Given the description of an element on the screen output the (x, y) to click on. 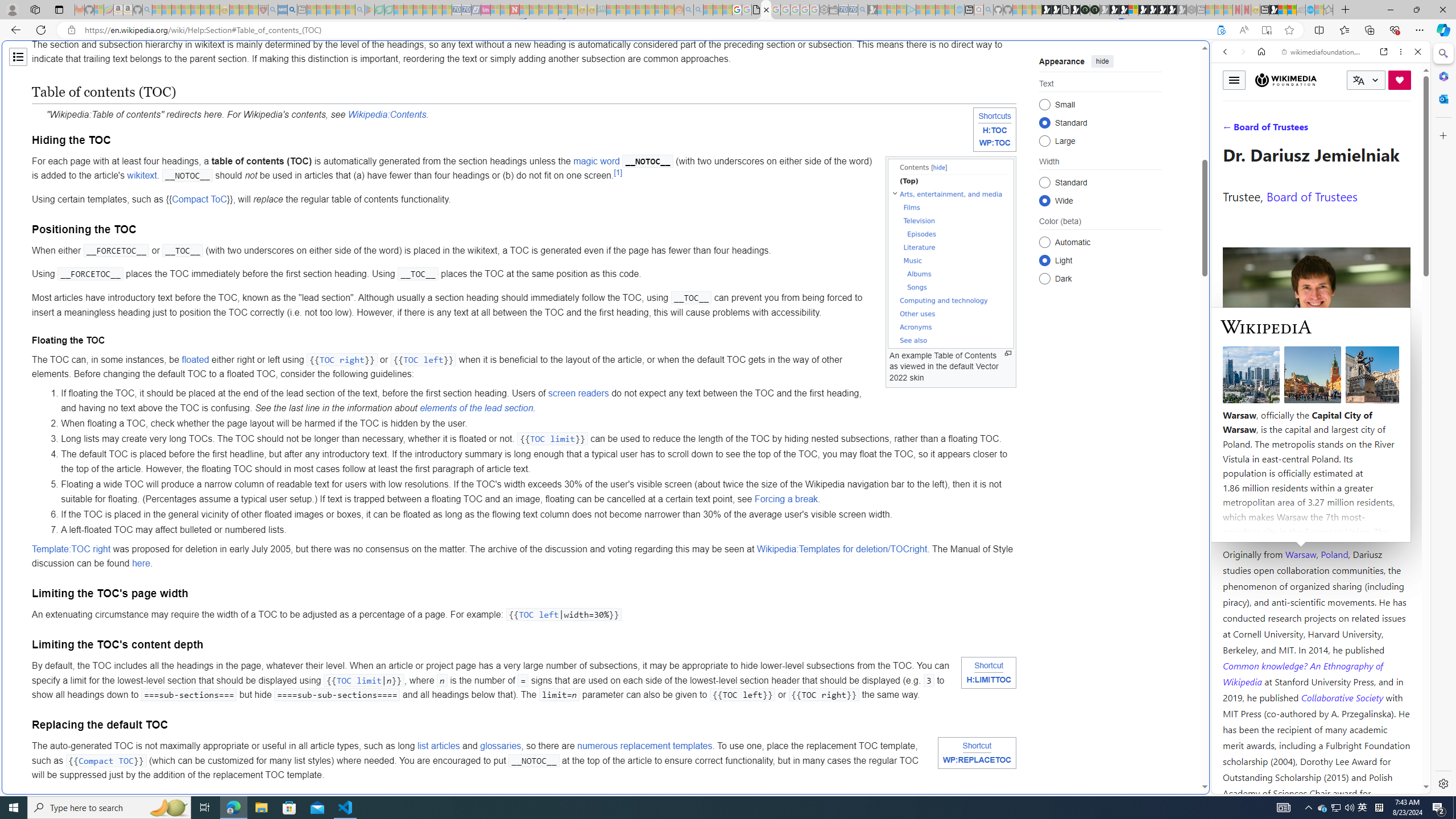
Settings - Sleeping (823, 9)
utah sues federal government - Search (291, 9)
Warsaw (1300, 554)
Profile on Meta-Wiki (1273, 405)
